Given the description of an element on the screen output the (x, y) to click on. 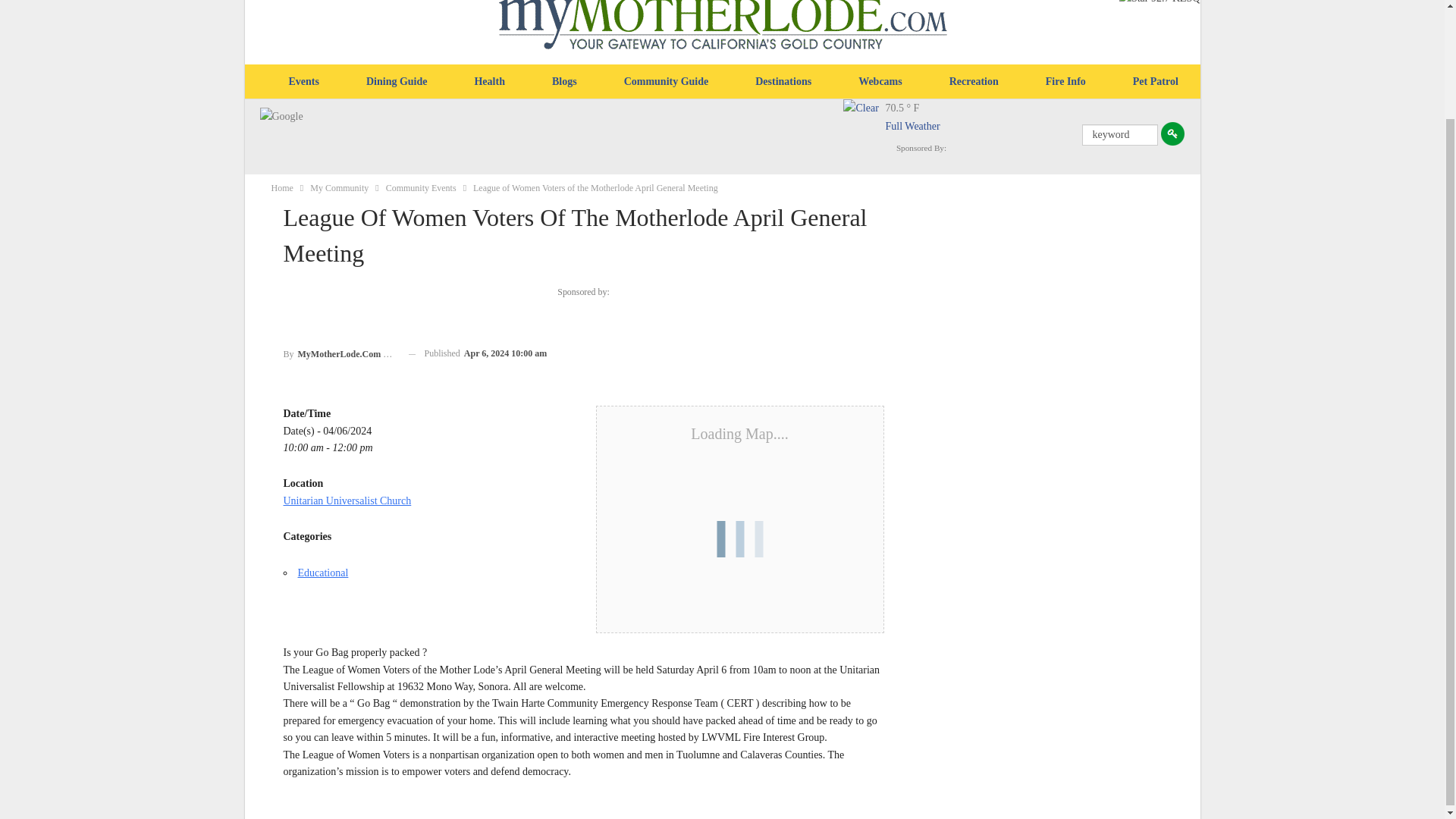
Blogs (563, 81)
Recreation (973, 81)
Fire Info (1065, 81)
Clear (864, 119)
Dining Guide (397, 81)
keyword (1119, 134)
Webcams (880, 81)
Health (488, 81)
